Given the description of an element on the screen output the (x, y) to click on. 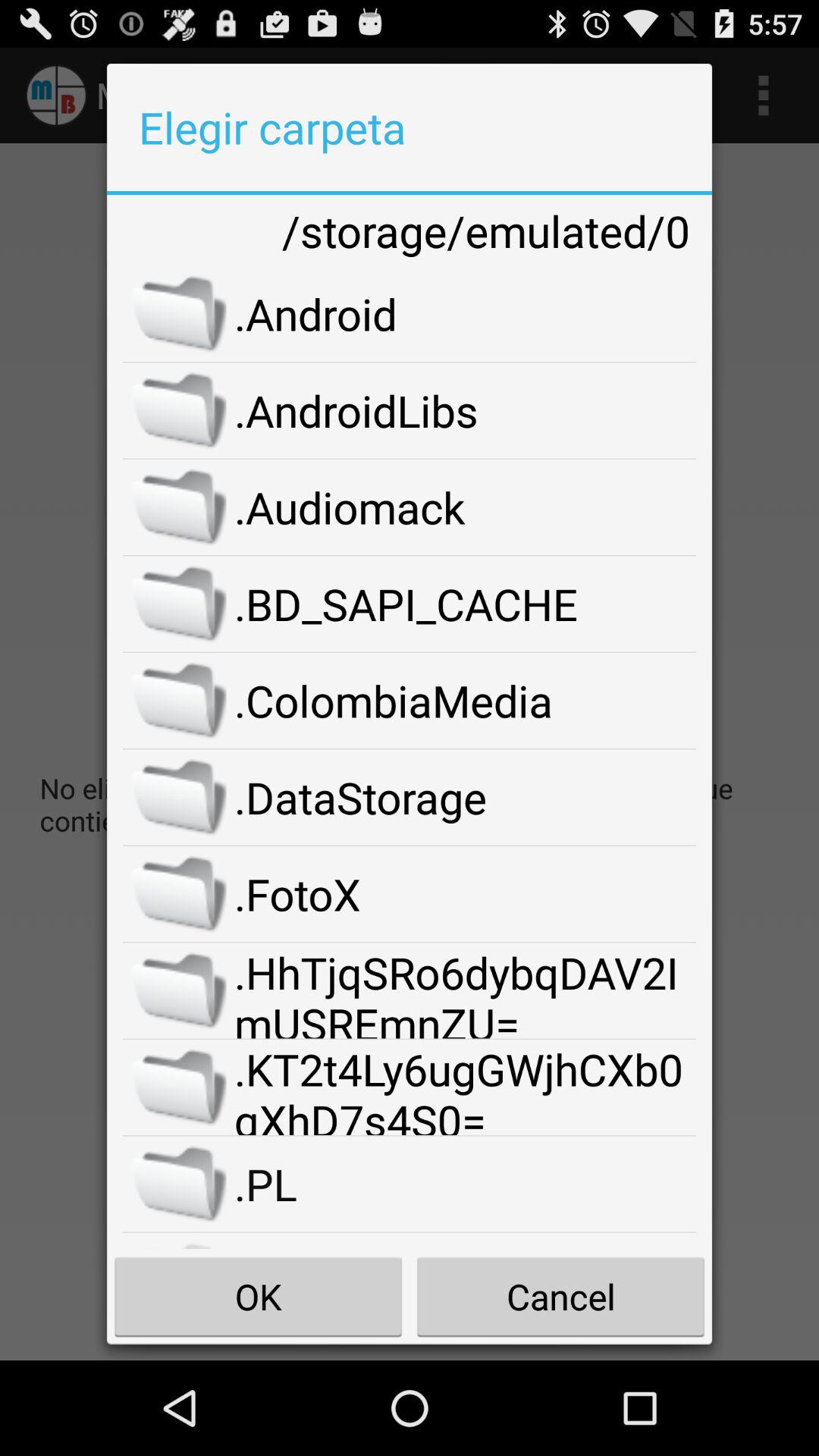
launch the .sdkdownloads item (465, 1240)
